Given the description of an element on the screen output the (x, y) to click on. 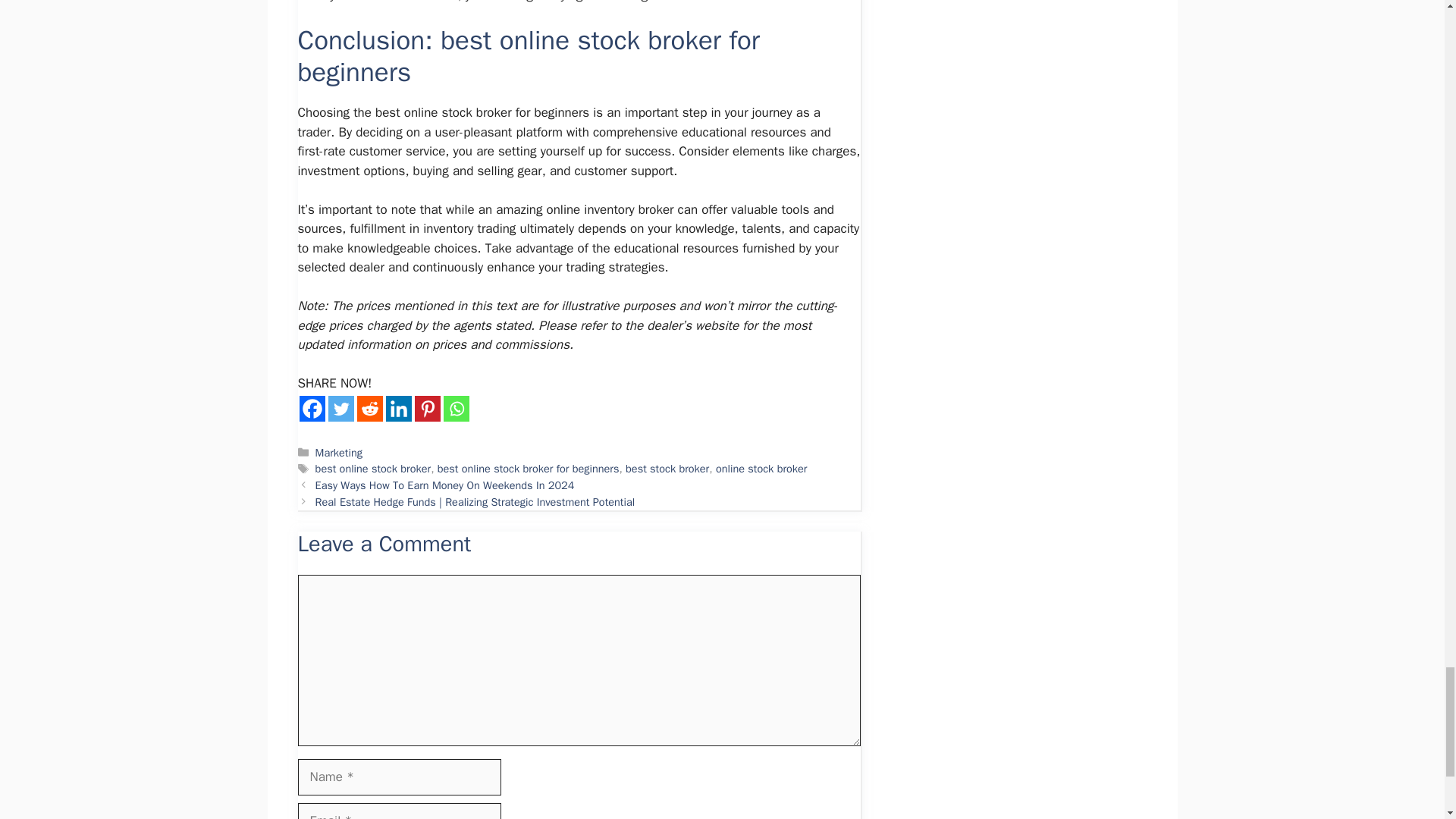
online stock broker (762, 468)
best stock broker (667, 468)
Facebook (311, 408)
best online stock broker (372, 468)
best online stock broker for beginners (529, 468)
Easy Ways How To Earn Money On Weekends In 2024 (445, 485)
Whatsapp (455, 408)
Marketing (338, 452)
Twitter (340, 408)
Linkedin (397, 408)
